Given the description of an element on the screen output the (x, y) to click on. 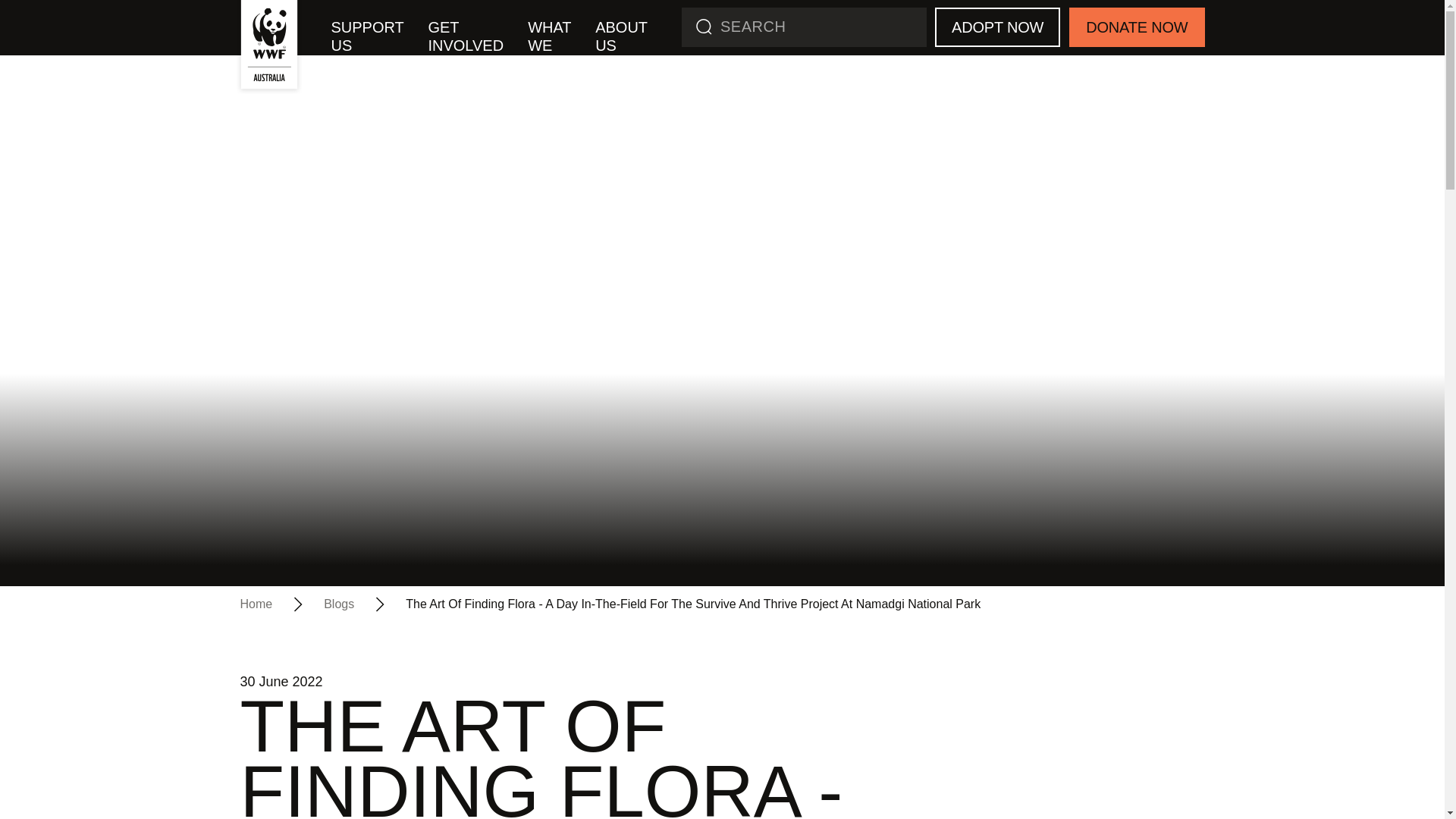
GET INVOLVED (464, 36)
ABOUT US (621, 36)
SUPPORT US (366, 36)
